Given the description of an element on the screen output the (x, y) to click on. 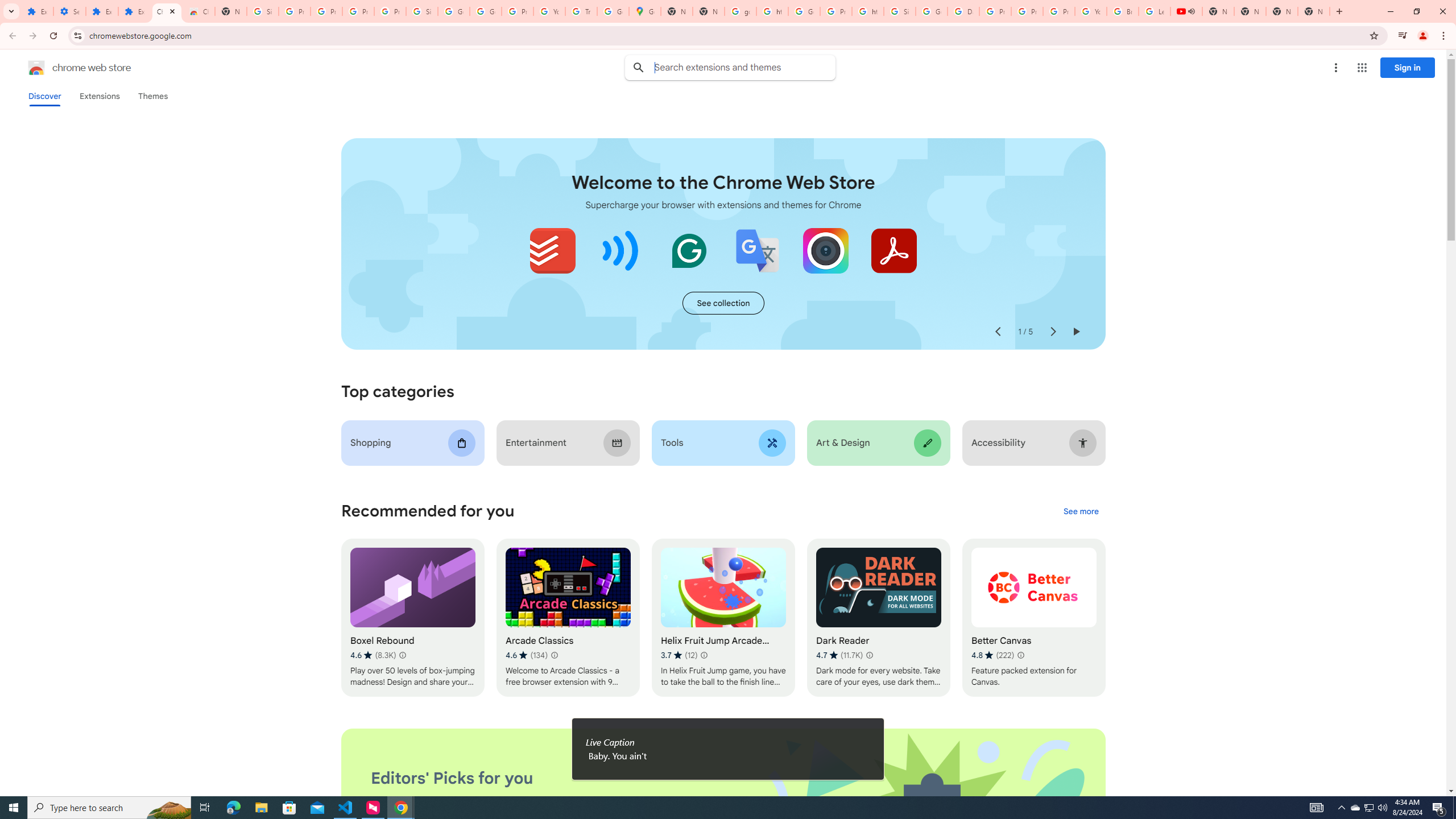
See more personalized recommendations (1080, 511)
Google Translate (757, 250)
See more of the "Extensions starter kit" collection (722, 303)
Average rating 4.6 out of 5 stars. 134 ratings. (526, 655)
Helix Fruit Jump Arcade Game (722, 617)
Chrome Web Store logo (36, 67)
Sign in - Google Accounts (421, 11)
New Tab (230, 11)
Chrome Web Store - Themes (198, 11)
Google Maps (644, 11)
Arcade Classics (567, 617)
